Given the description of an element on the screen output the (x, y) to click on. 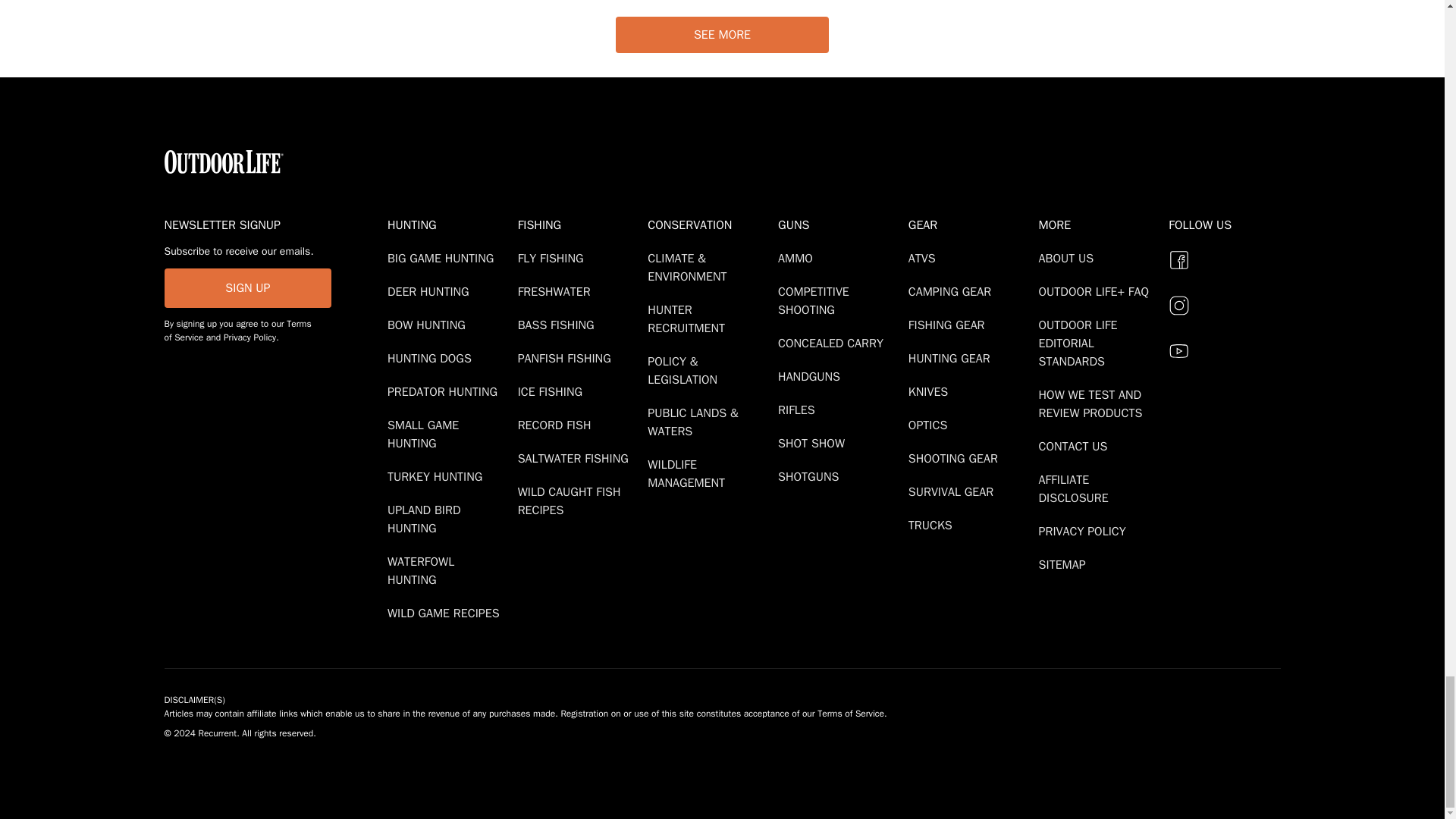
Big Game Hunting (443, 258)
Conservation (709, 225)
Deer Hunting (431, 291)
Hunting (449, 225)
Fishing (580, 225)
Fly Fishing (553, 258)
